Given the description of an element on the screen output the (x, y) to click on. 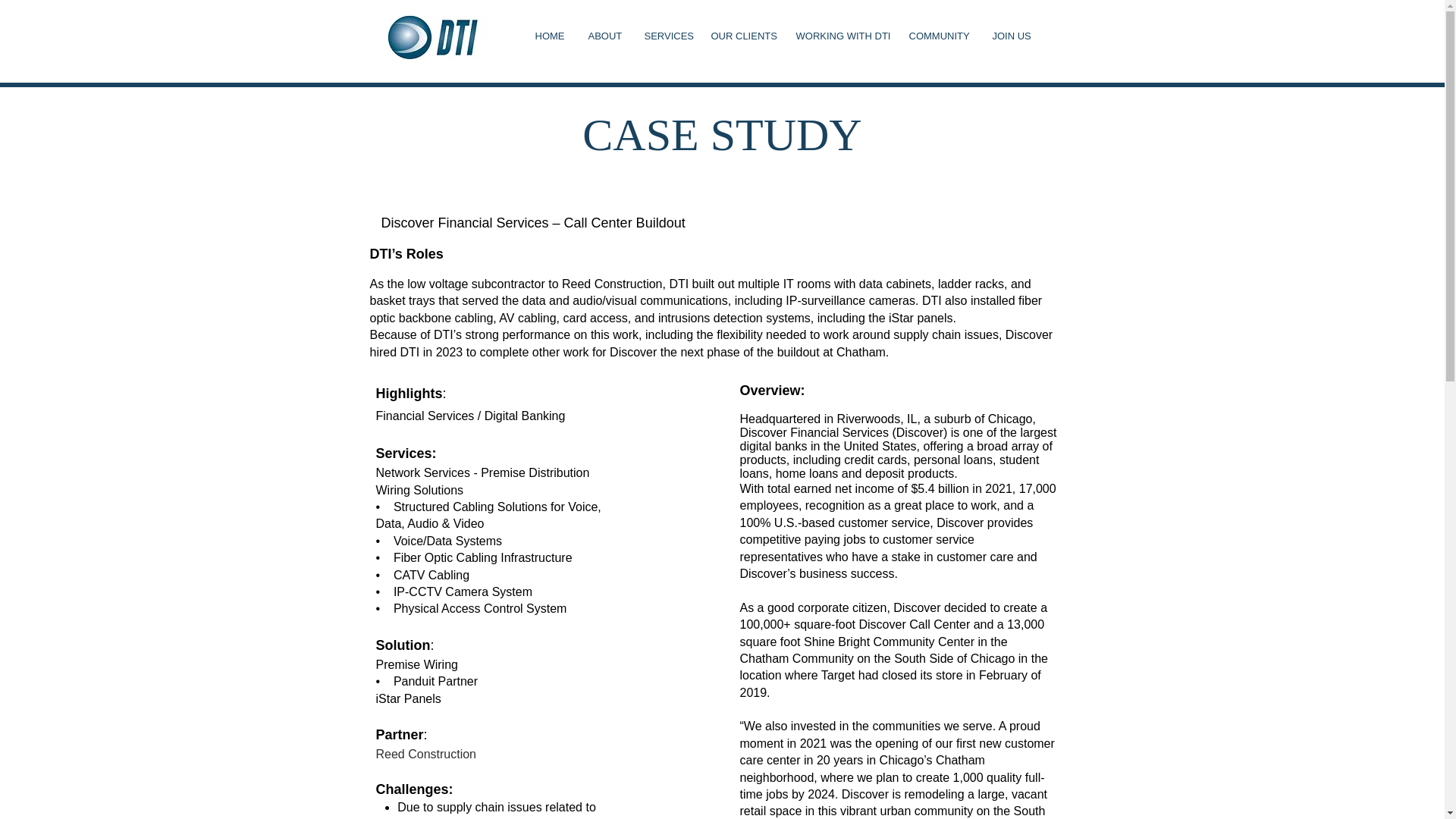
COMMUNITY (939, 35)
OUR CLIENTS (741, 35)
SERVICES (664, 35)
WORKING WITH DTI (840, 35)
ABOUT (603, 35)
JOIN US (1011, 35)
HOME (549, 35)
